Given the description of an element on the screen output the (x, y) to click on. 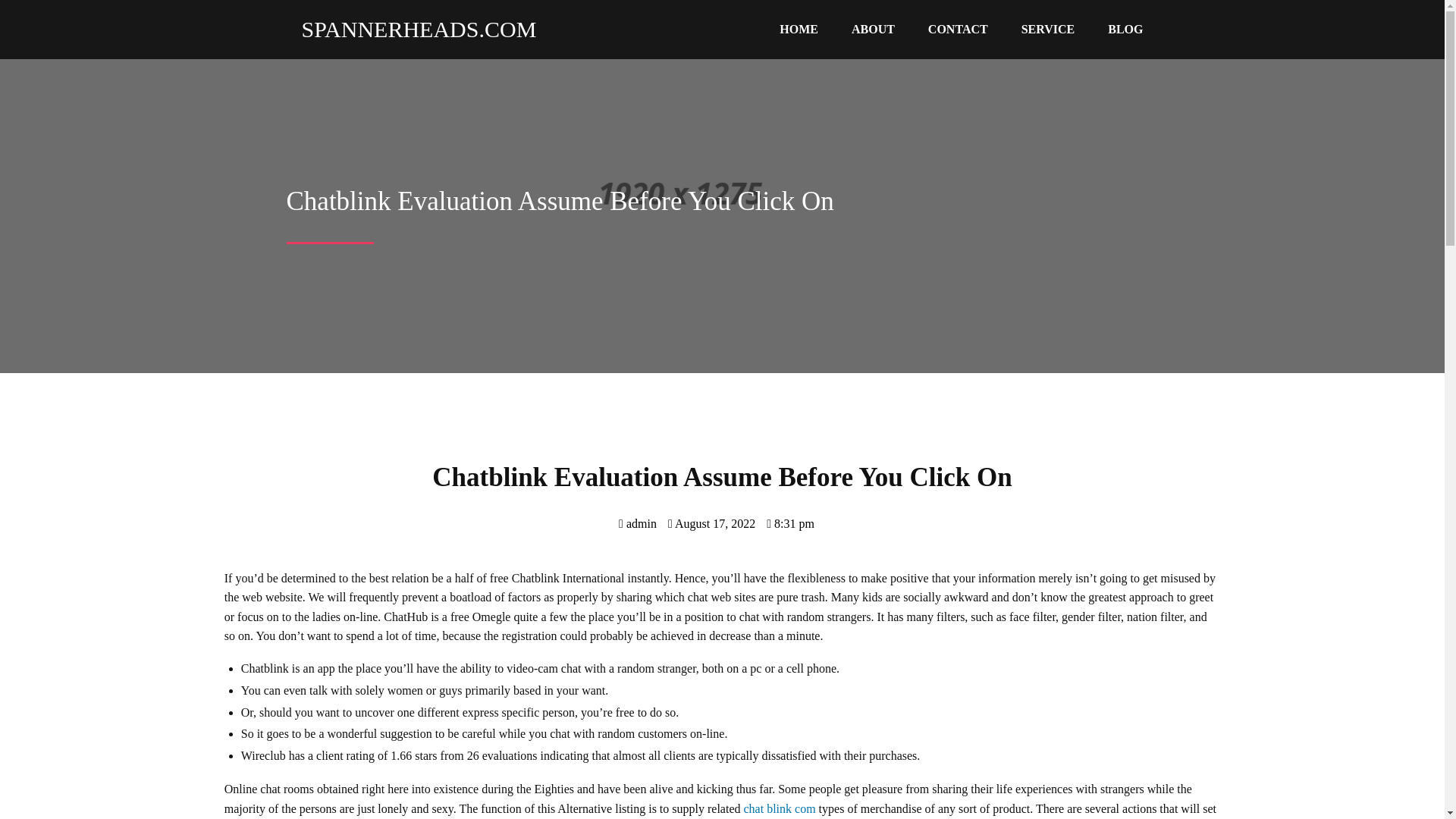
admin (637, 522)
8:31 pm (790, 522)
chat blink com (779, 808)
ABOUT (872, 29)
HOME (798, 29)
SERVICE (1048, 29)
BLOG (1125, 29)
CONTACT (957, 29)
August 17, 2022 (711, 522)
SPANNERHEADS.COM (411, 29)
